Given the description of an element on the screen output the (x, y) to click on. 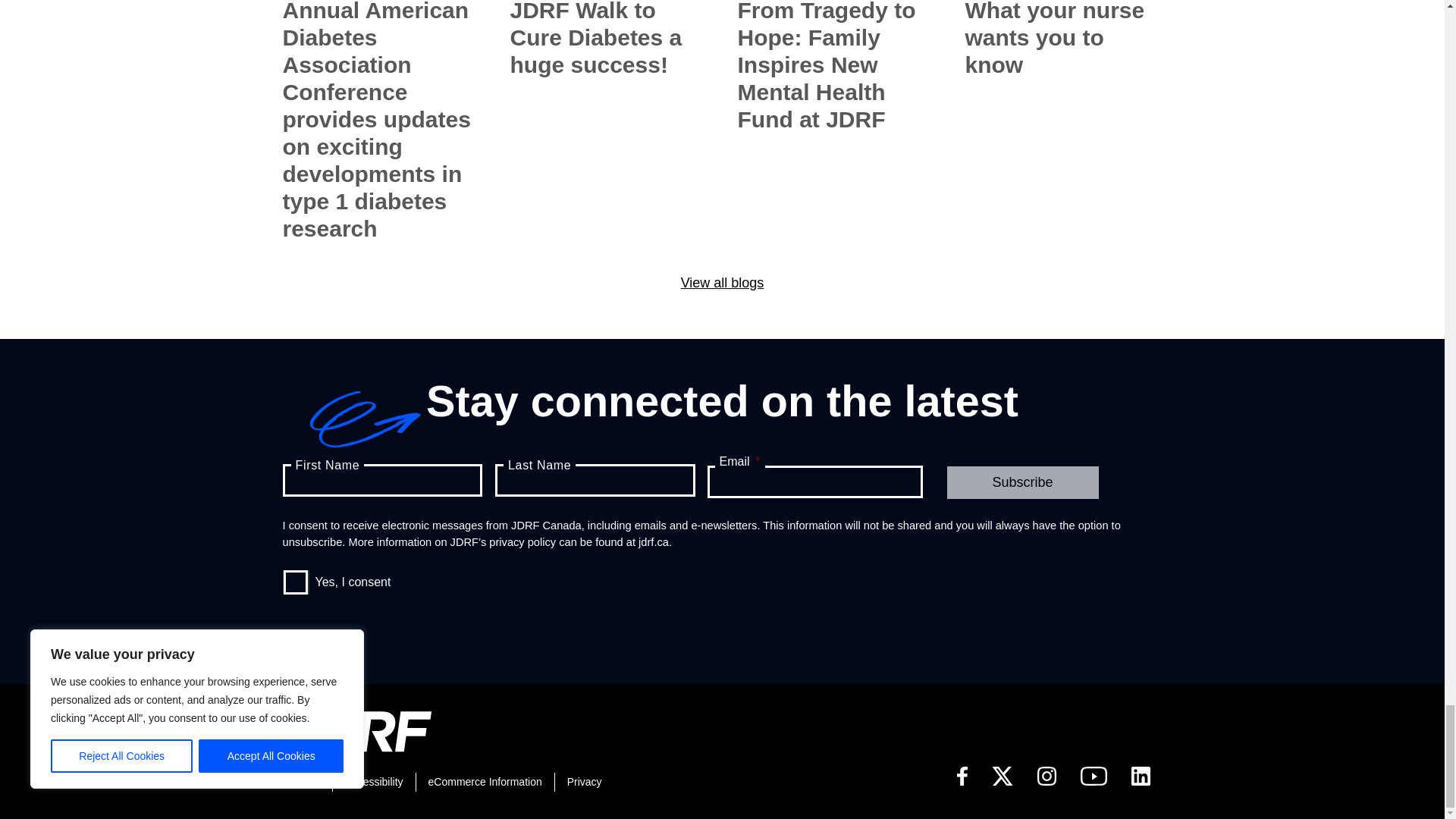
Yes, I consent (295, 582)
